Given the description of an element on the screen output the (x, y) to click on. 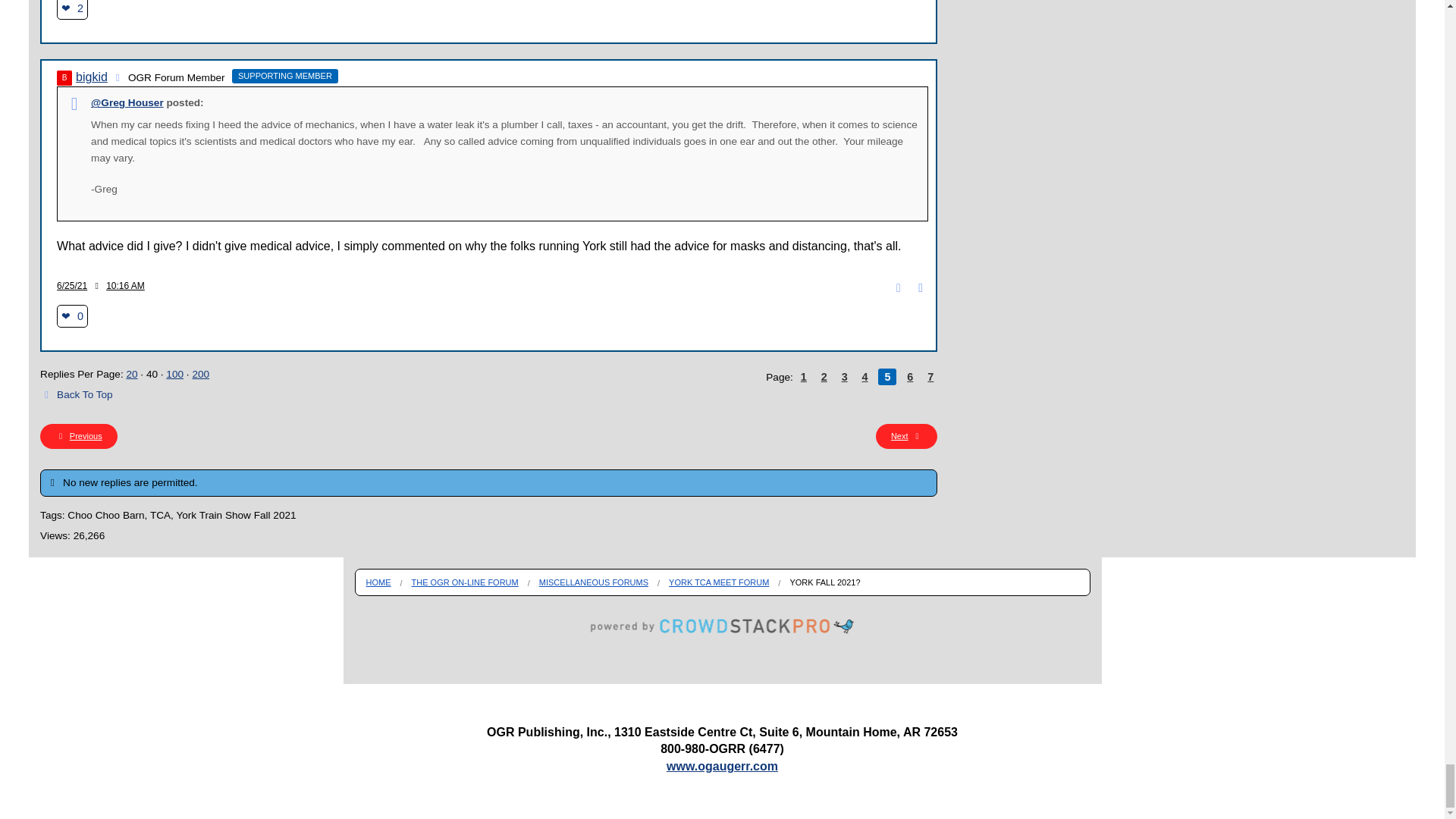
B (63, 77)
